Given the description of an element on the screen output the (x, y) to click on. 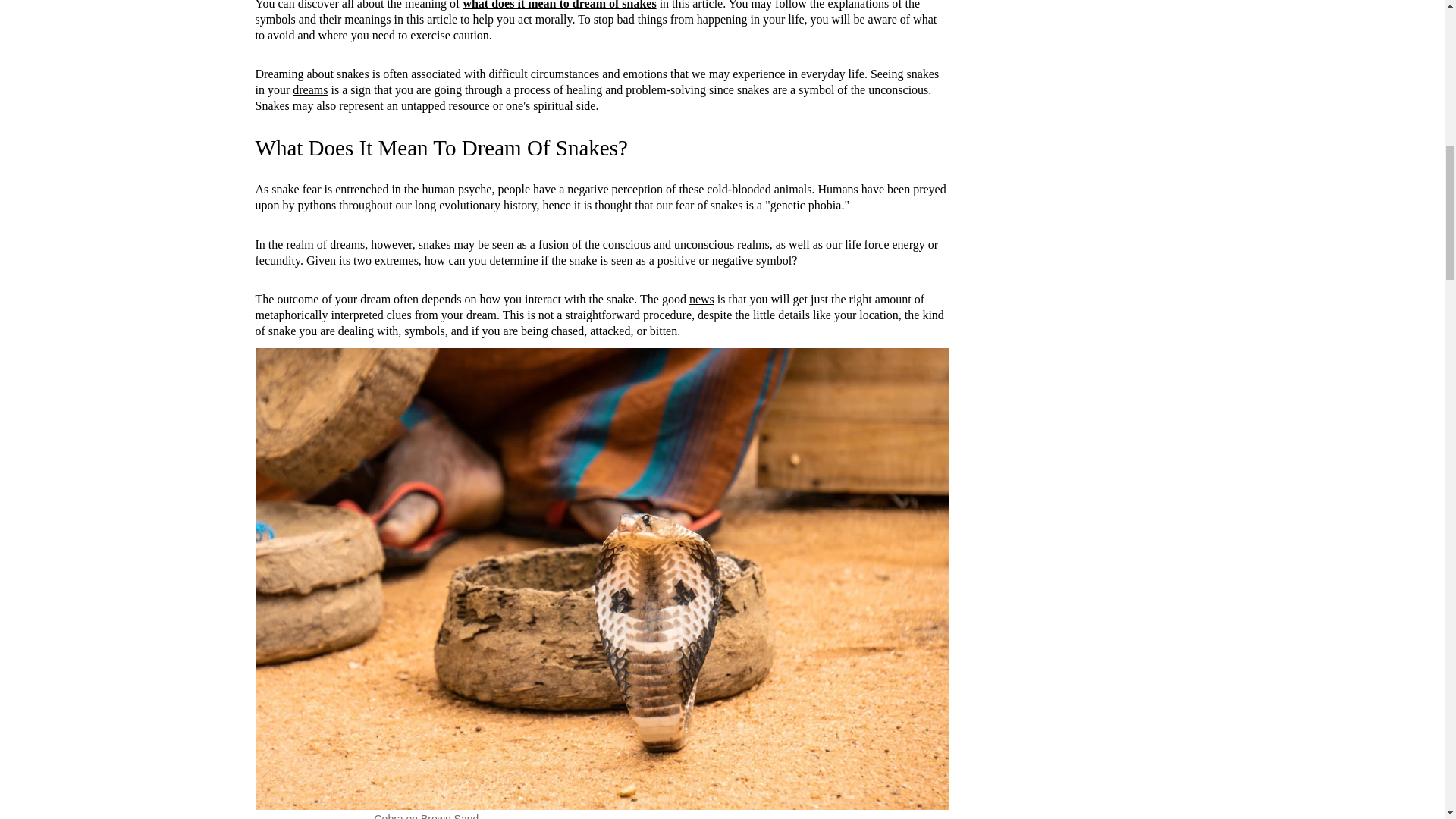
What Does It Mean To Dream Of Snakes? (440, 147)
